Given the description of an element on the screen output the (x, y) to click on. 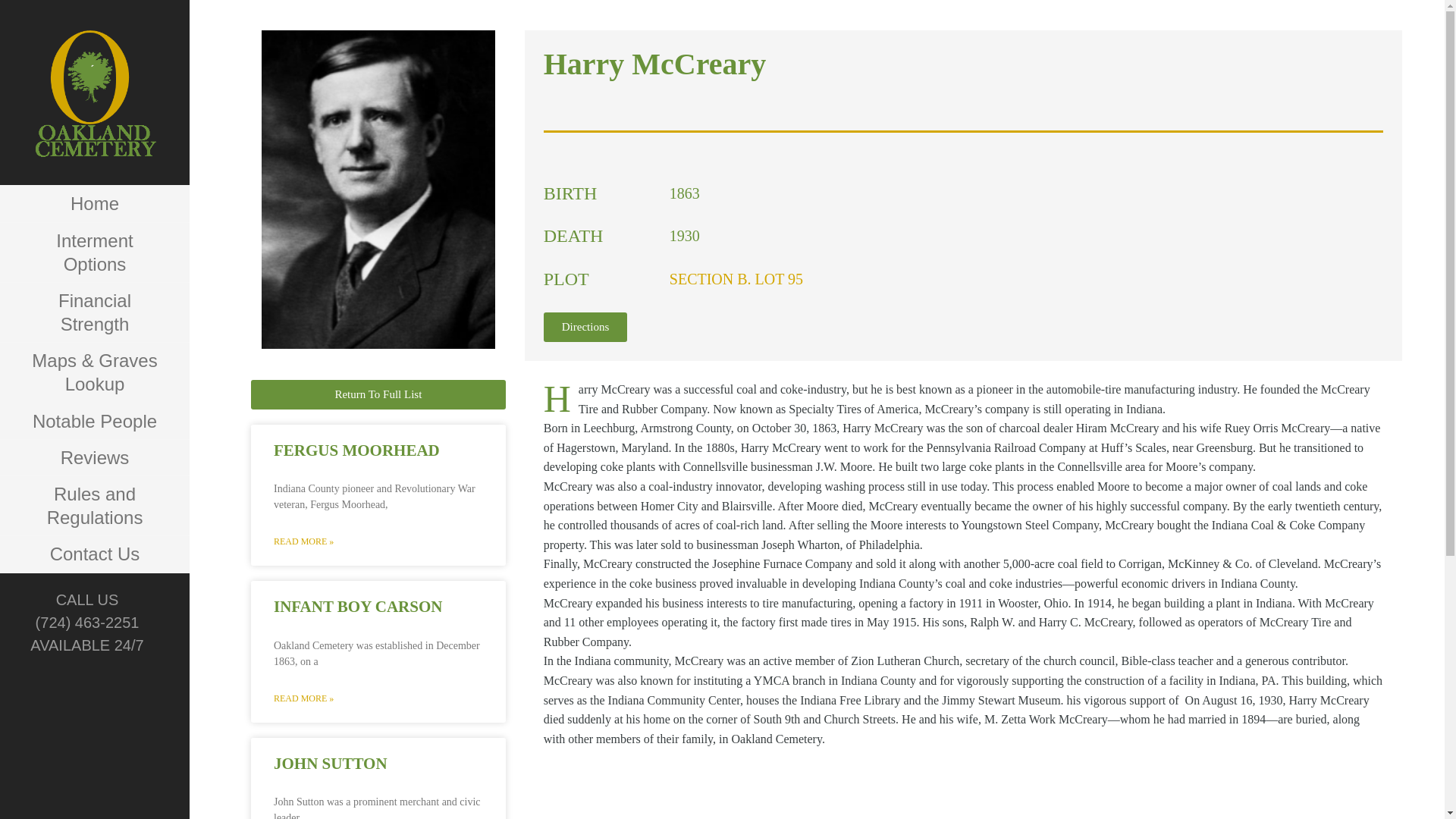
OAKLAND CEMETERY (107, 183)
Reviews (94, 457)
Return To Full List (377, 394)
FERGUS MOORHEAD (356, 450)
Contact Us (94, 554)
Interment Options (94, 252)
INFANT BOY CARSON (357, 606)
JOHN SUTTON (330, 763)
Financial Strength (94, 312)
Rules and Regulations (94, 505)
